Given the description of an element on the screen output the (x, y) to click on. 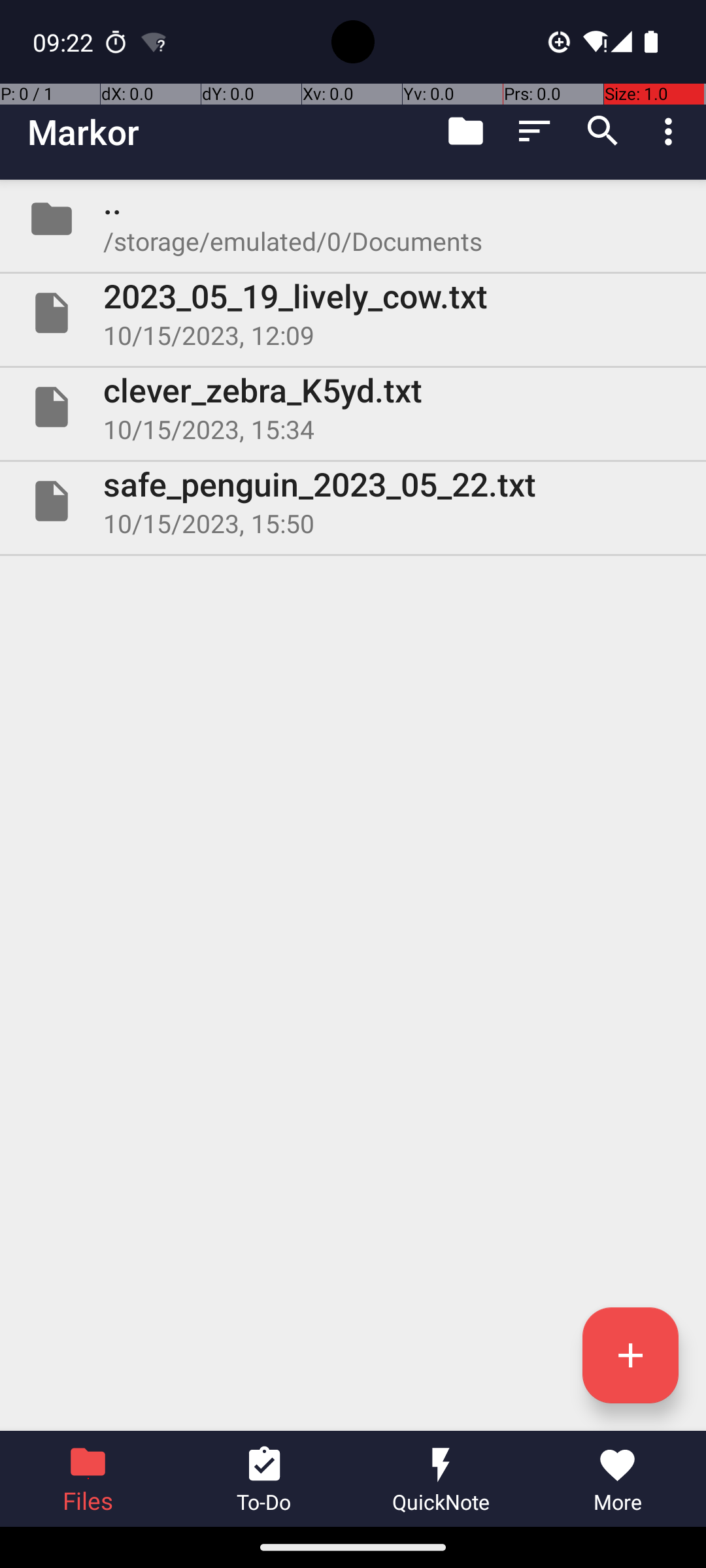
File 2023_05_19_lively_cow.txt  Element type: android.widget.LinearLayout (353, 312)
File clever_zebra_K5yd.txt  Element type: android.widget.LinearLayout (353, 406)
File safe_penguin_2023_05_22.txt  Element type: android.widget.LinearLayout (353, 500)
09:22 Element type: android.widget.TextView (64, 41)
